Given the description of an element on the screen output the (x, y) to click on. 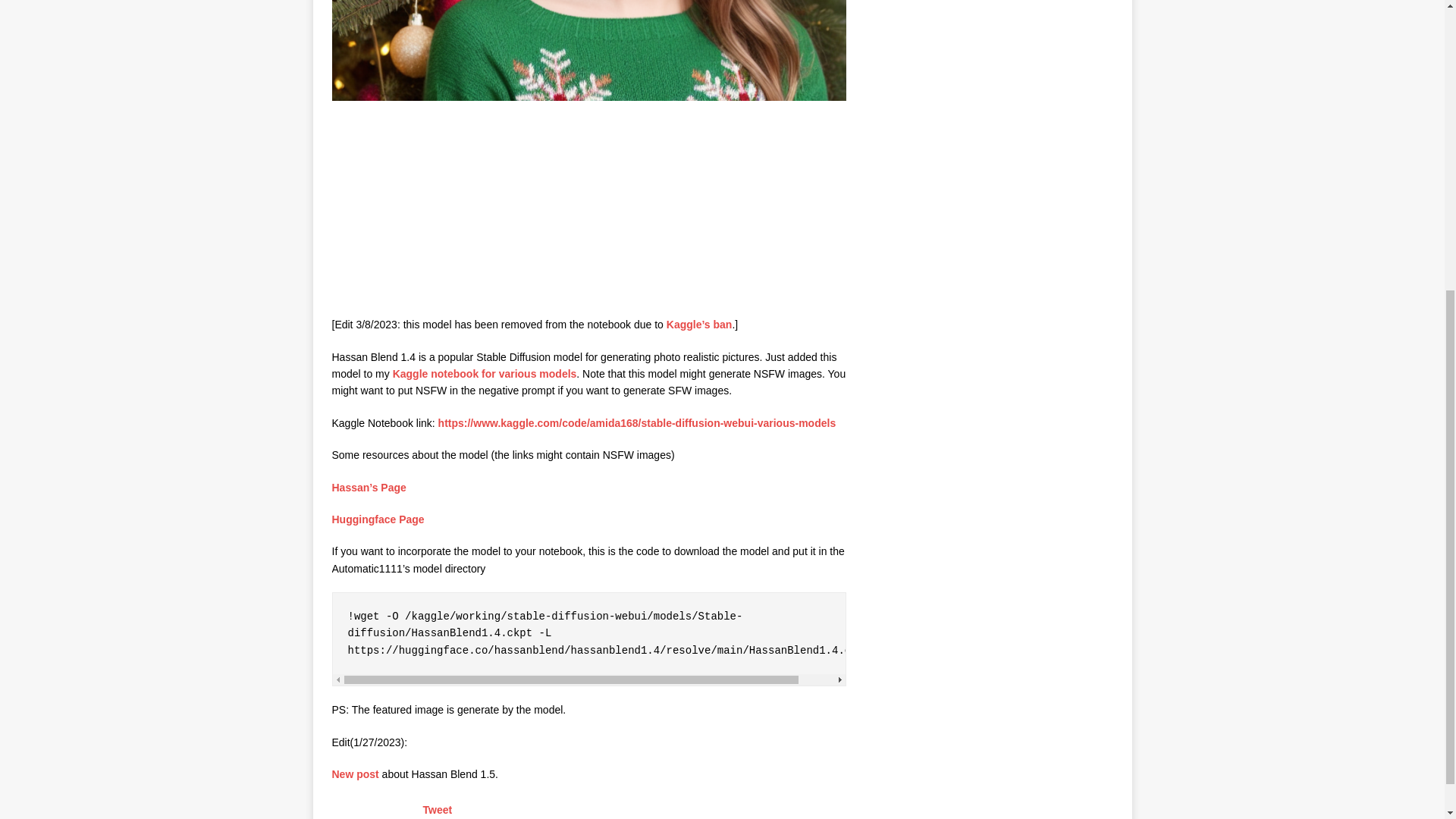
New post (354, 774)
Tweet (437, 809)
Advertisement (445, 210)
hassan blend (588, 50)
Huggingface Page (378, 519)
Kaggle notebook for various models (484, 373)
